Given the description of an element on the screen output the (x, y) to click on. 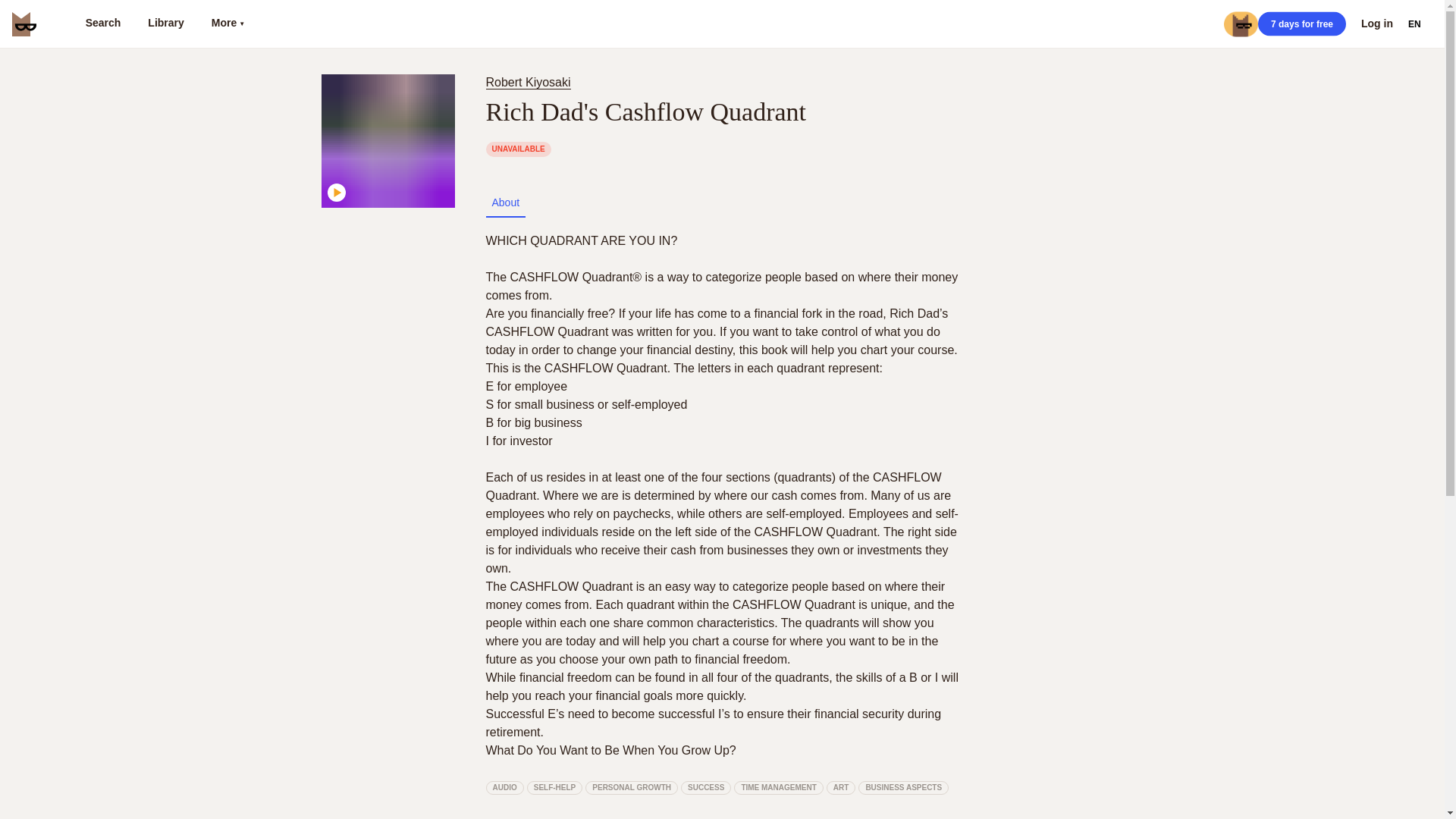
BUSINESS ASPECTS (904, 787)
TIME MANAGEMENT (777, 787)
SUCCESS (705, 787)
SELF-HELP (555, 787)
AUDIO (503, 787)
Robert Kiyosaki (527, 82)
Robert Kiyosaki (530, 82)
About (504, 202)
PERSONAL GROWTH (631, 787)
ART (841, 787)
